Given the description of an element on the screen output the (x, y) to click on. 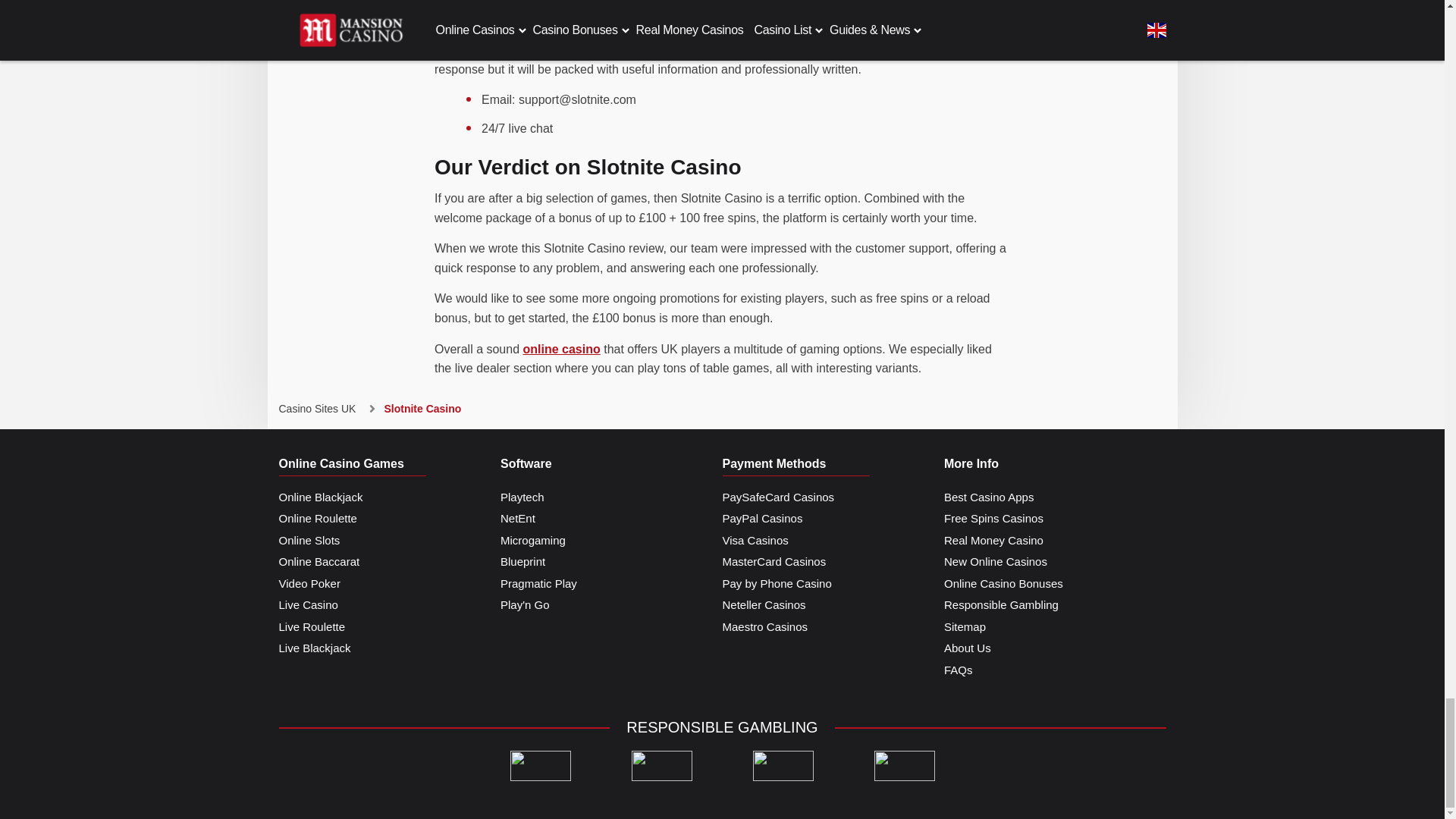
Pay by Phone Casino (776, 584)
MasterCard Casinos (773, 562)
PayPal Casinos (762, 518)
Gambling Commission (660, 766)
Neteller Casinos (763, 605)
Maestro Casinos (765, 627)
Real Money Casino (993, 540)
Visa Casinos (754, 540)
PaySafeCard Casinos (778, 497)
